Given the description of an element on the screen output the (x, y) to click on. 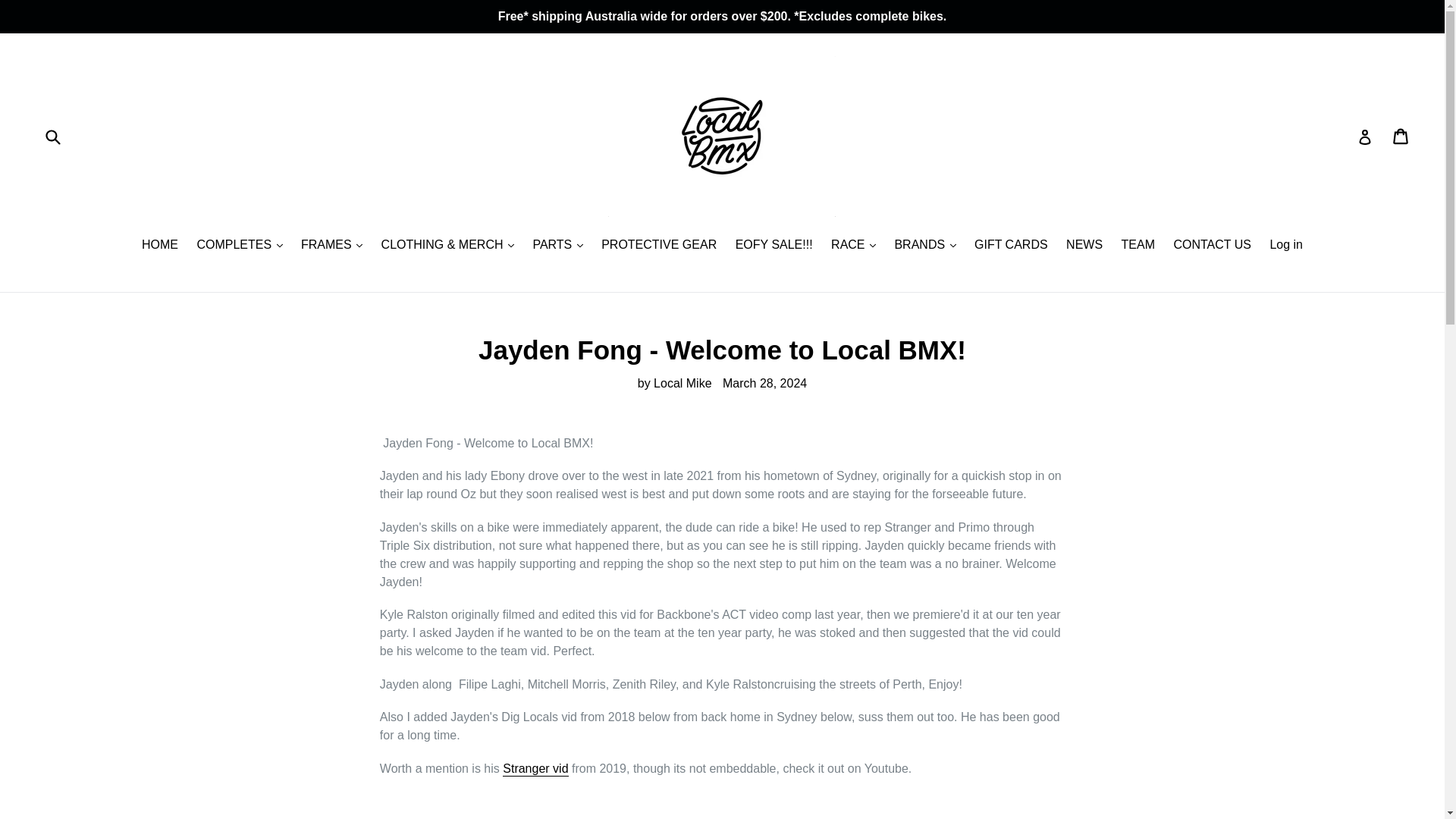
YouTube video player (592, 805)
